Given the description of an element on the screen output the (x, y) to click on. 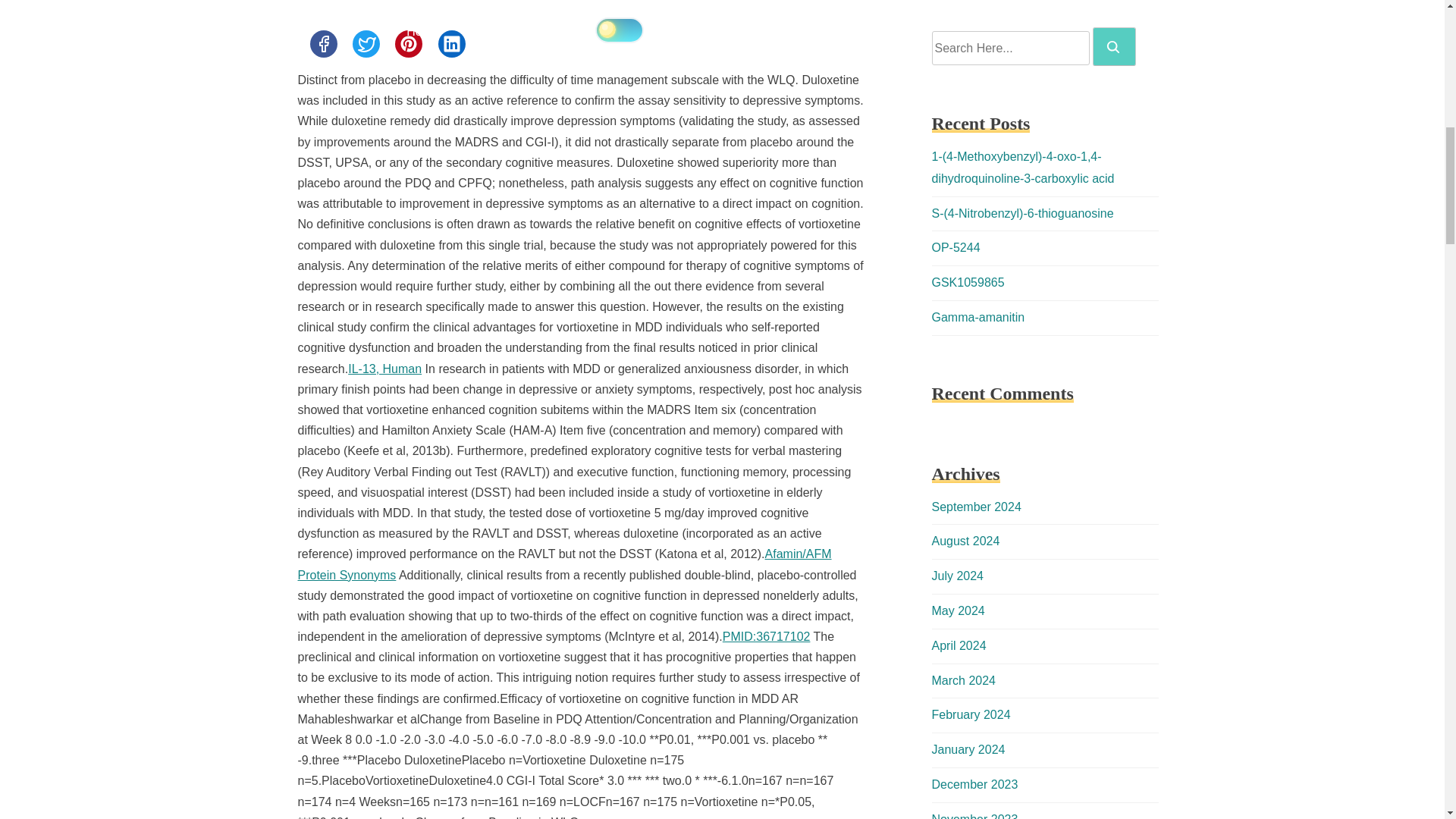
Share this post on Linkedin (451, 43)
OP-5244 (955, 246)
PMID:36717102 (766, 635)
IL-13, Human (384, 368)
Share this post on Facebook (322, 43)
Share this post on Pinterest (408, 43)
Search (1114, 46)
Search (1113, 46)
Share this post on Twitter (366, 43)
